Given the description of an element on the screen output the (x, y) to click on. 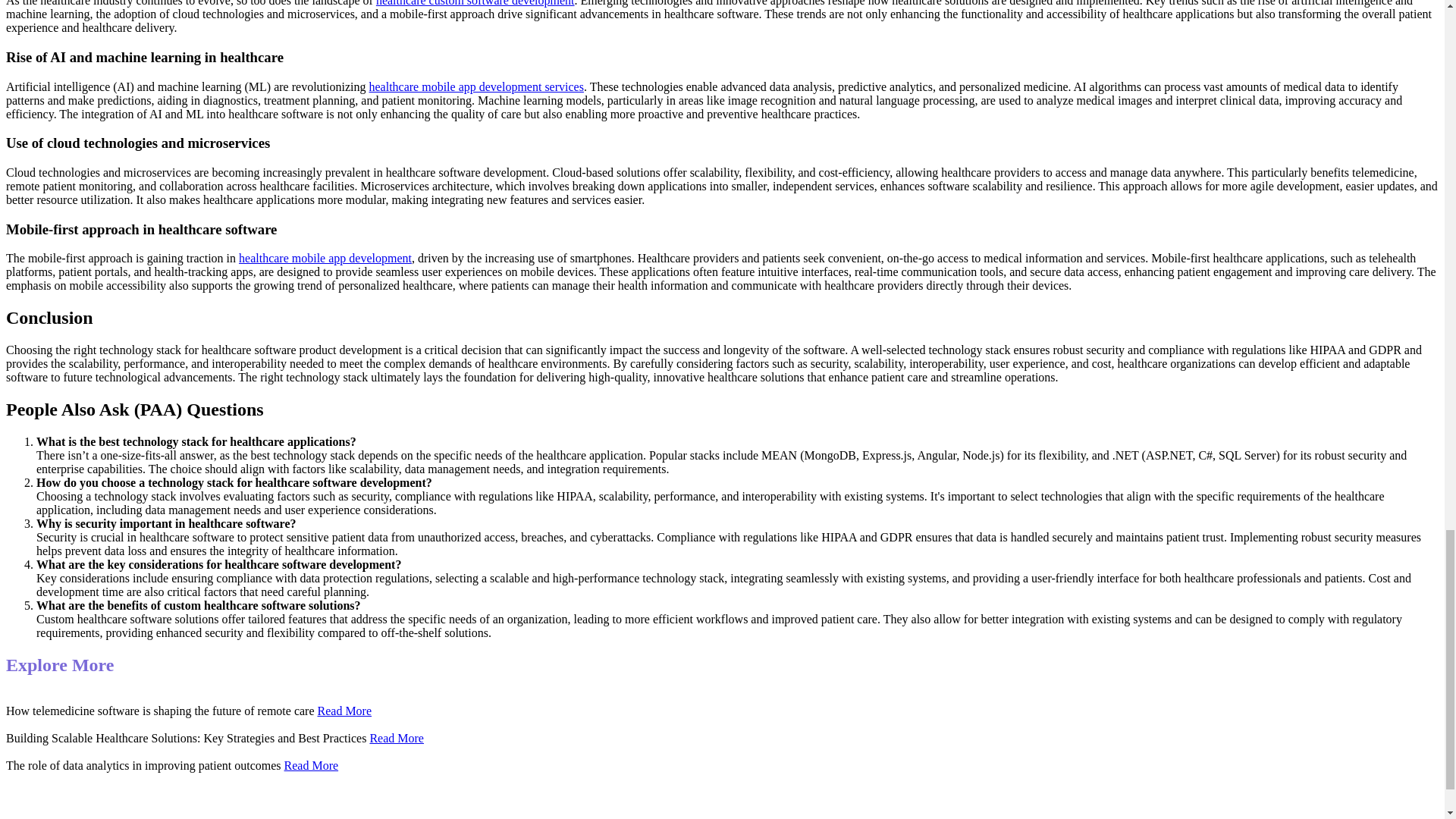
healthcare mobile app development services (475, 86)
Read More (311, 765)
healthcare custom software development (475, 3)
Read More (396, 738)
Read More (344, 710)
healthcare mobile app development (325, 257)
